Given the description of an element on the screen output the (x, y) to click on. 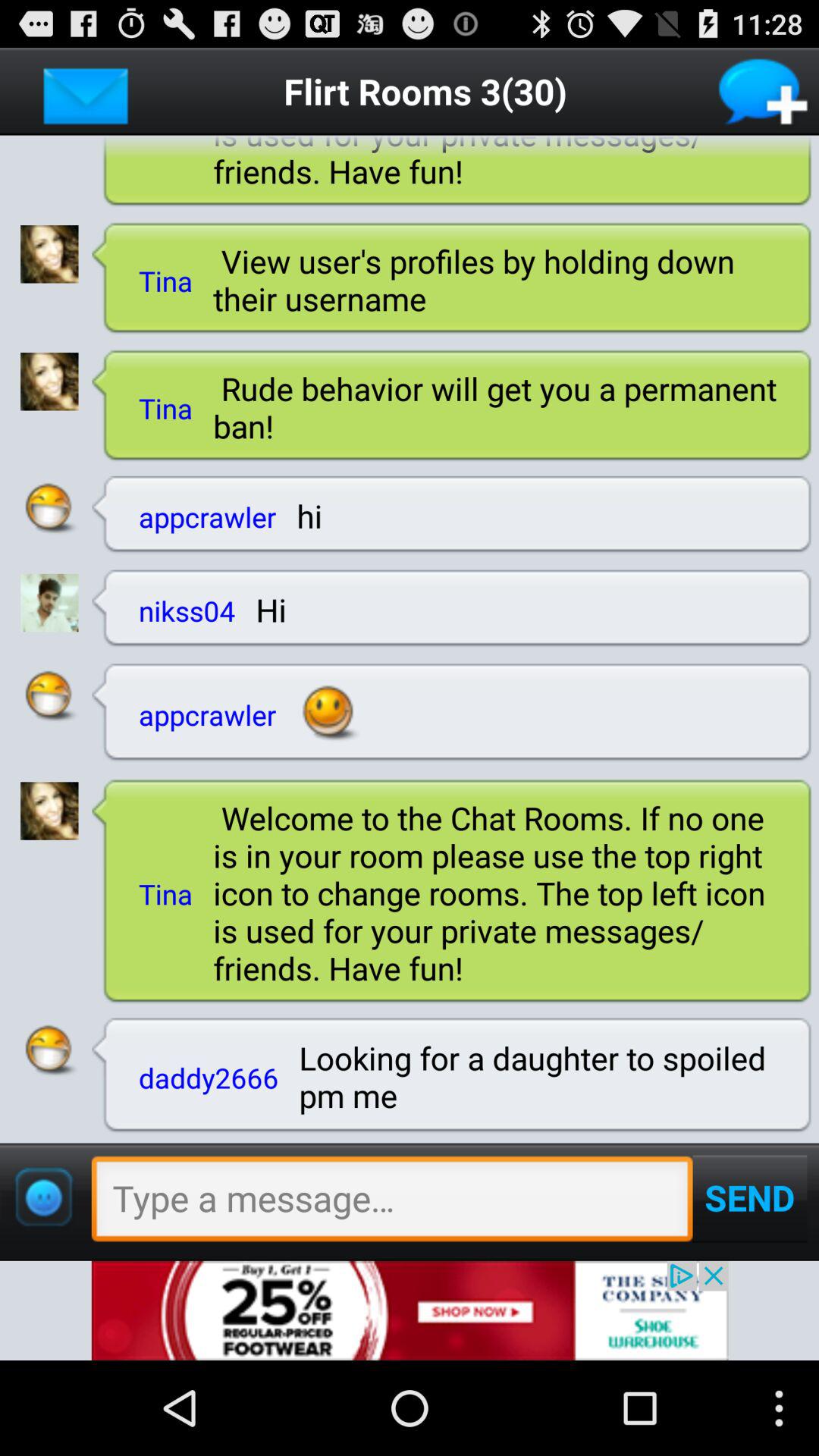
open new chat (764, 91)
